Given the description of an element on the screen output the (x, y) to click on. 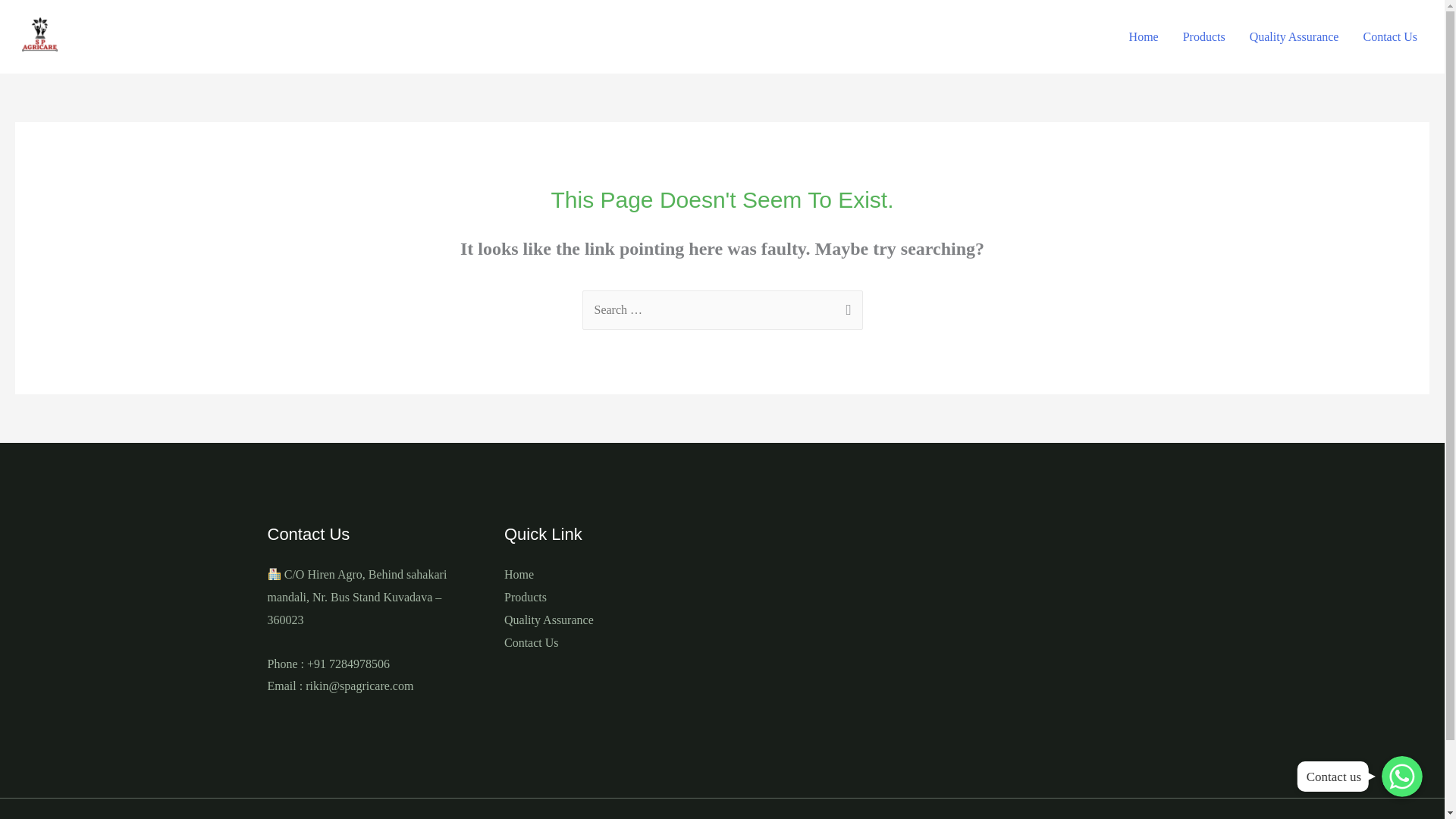
Home (518, 574)
Quality Assurance (548, 619)
Contact Us (1390, 36)
Quality Assurance (1294, 36)
Products (525, 596)
Contact Us (531, 642)
Products (1203, 36)
WhatsApp (1401, 775)
Home (1143, 36)
